Given the description of an element on the screen output the (x, y) to click on. 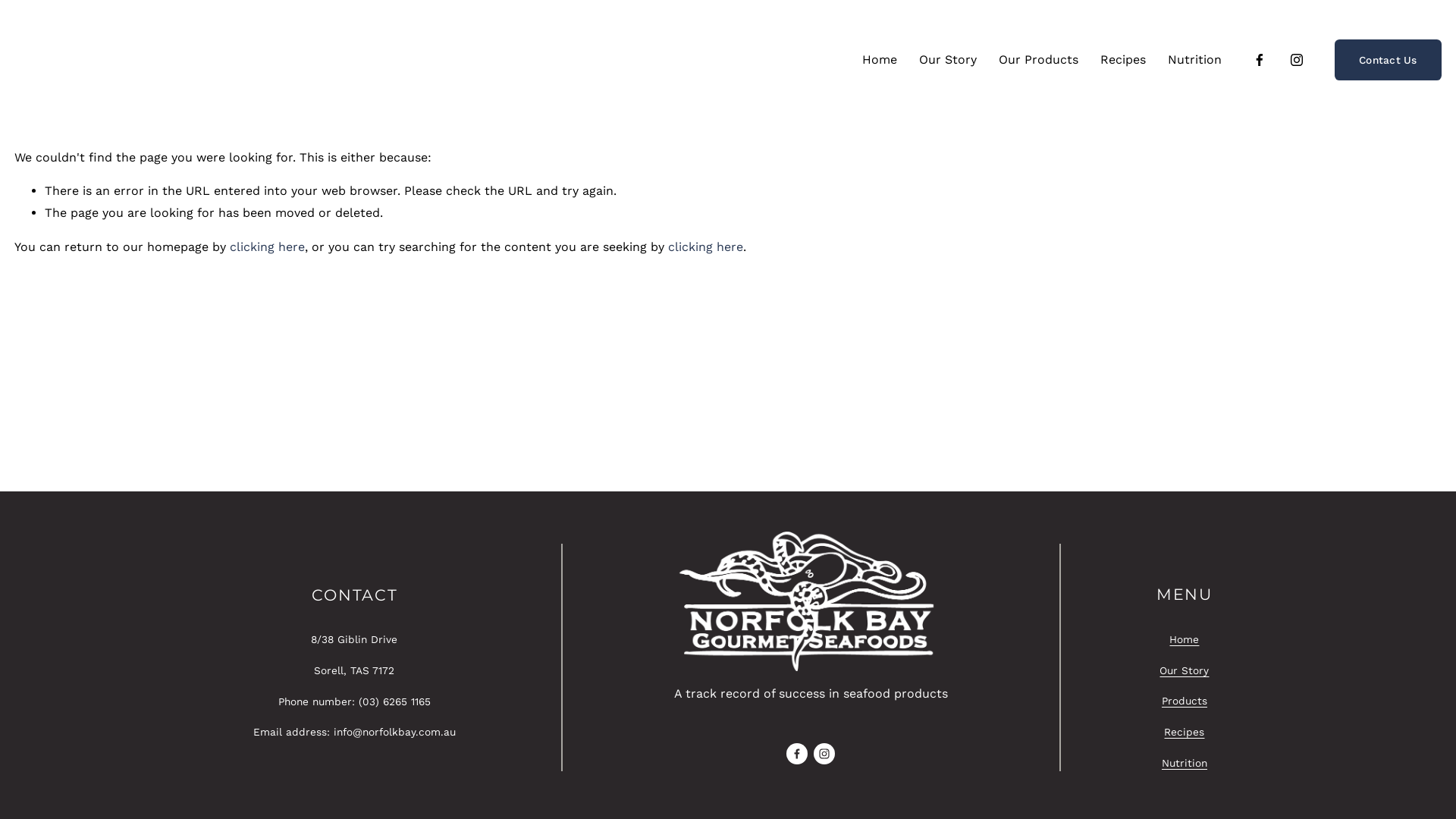
Home Element type: text (879, 59)
Contact Us Element type: text (1387, 59)
Our Story Element type: text (947, 59)
Our Products Element type: text (1038, 59)
clicking here Element type: text (705, 246)
Products Element type: text (1184, 700)
Recipes Element type: text (1122, 59)
Our Story Element type: text (1183, 670)
Nutrition Element type: text (1184, 762)
Home Element type: text (1183, 639)
Nutrition Element type: text (1194, 59)
Recipes Element type: text (1184, 731)
clicking here Element type: text (266, 246)
